Given the description of an element on the screen output the (x, y) to click on. 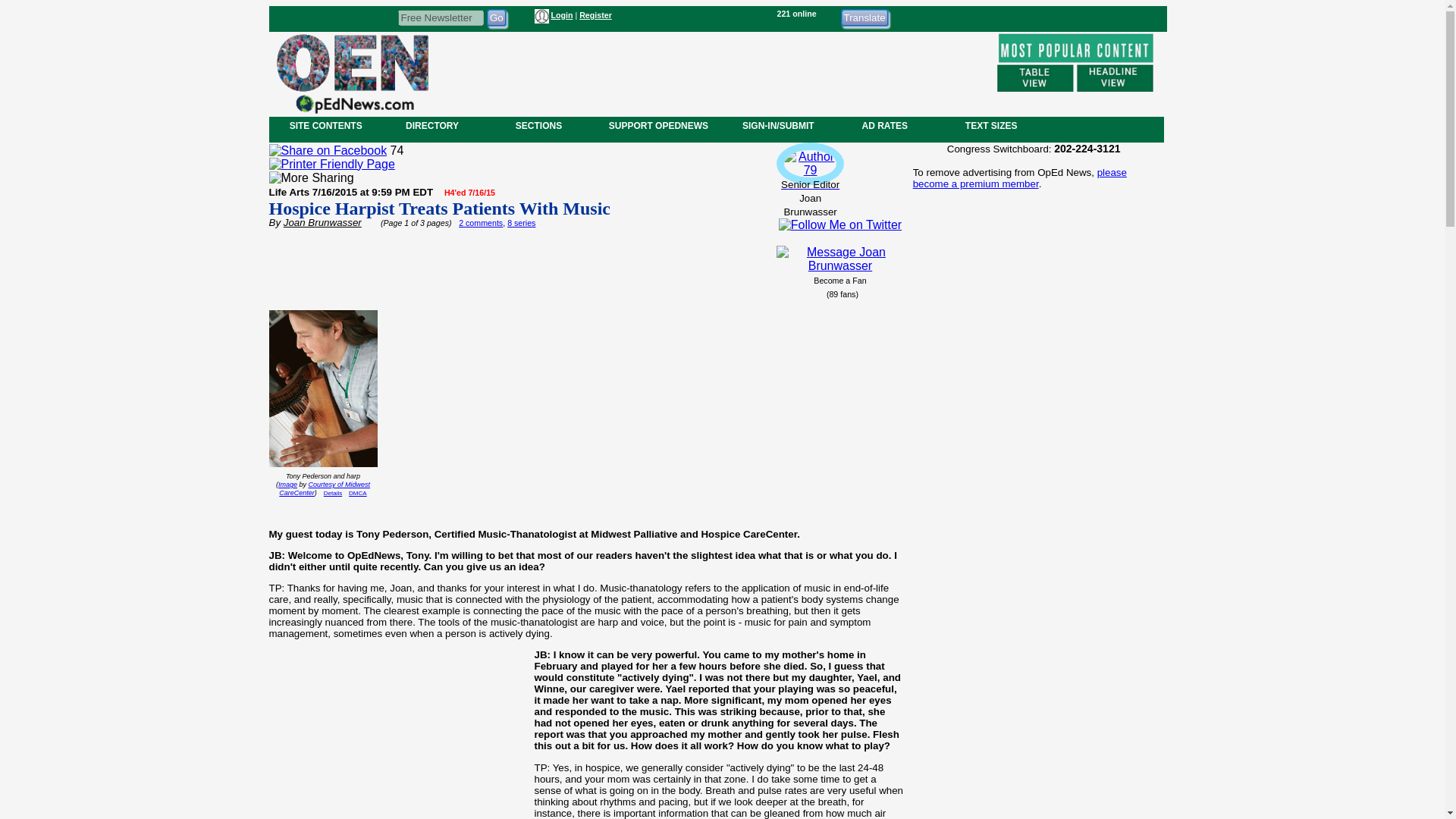
DMCA (357, 492)
Become a Fan (839, 280)
Login (561, 14)
SUPPORT OPEDNEWS (658, 125)
SECTIONS (537, 125)
Follow Me on Twitter (839, 224)
Register (595, 14)
Senior Editor (810, 176)
DIRECTORY (431, 125)
Joan Brunwasser (322, 222)
Go (496, 17)
Printer Friendly Page (330, 164)
Details (332, 492)
Report Copyright Violation (357, 492)
Courtesy of Midwest CareCenter (324, 488)
